Given the description of an element on the screen output the (x, y) to click on. 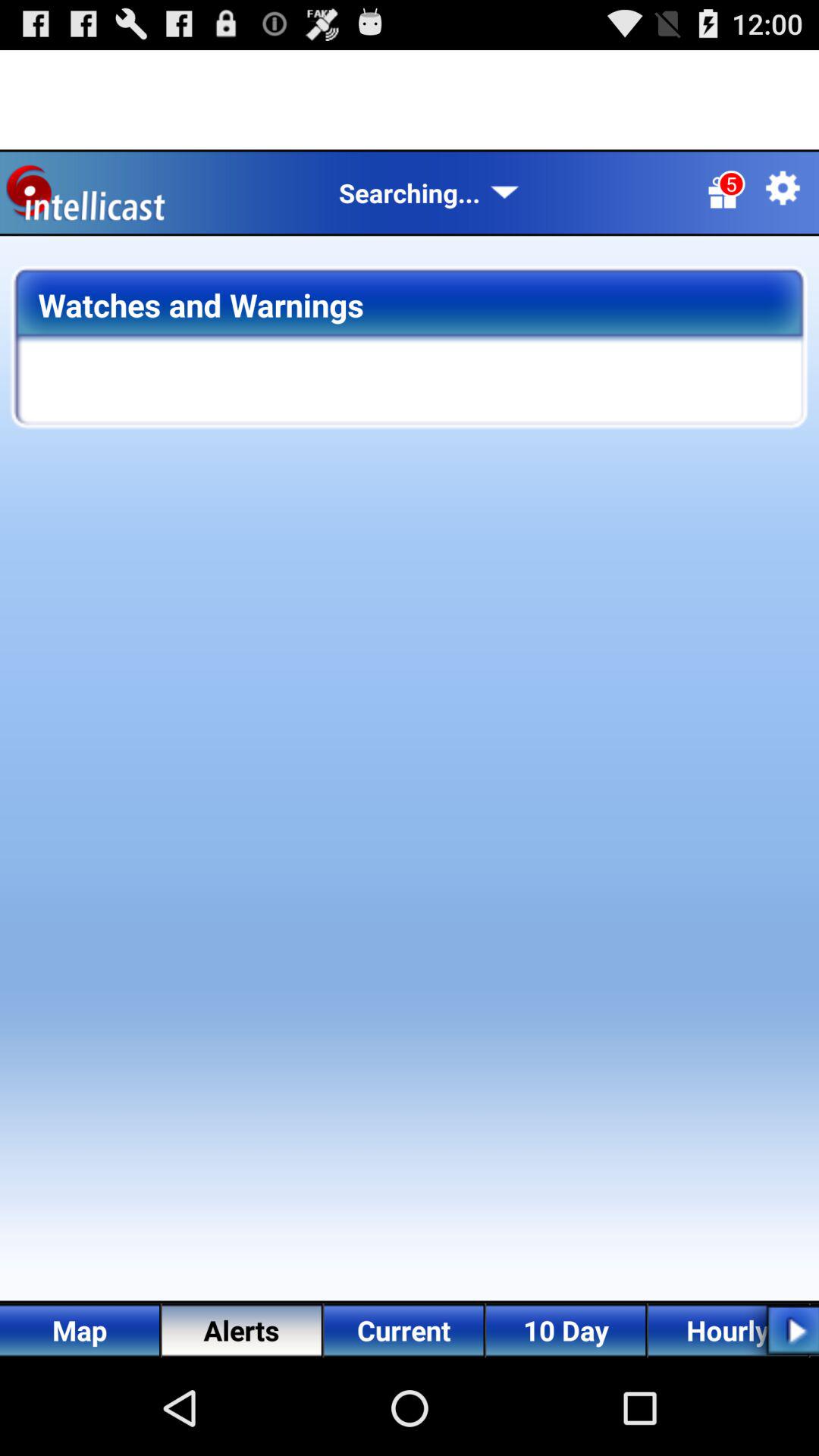
select 10 day on the bottom of the screen (565, 1329)
click on the settings icon from the top right (782, 187)
select the searching option along with drop down icon (429, 192)
select the gift icon in which numeric 5 is there (722, 192)
